Given the description of an element on the screen output the (x, y) to click on. 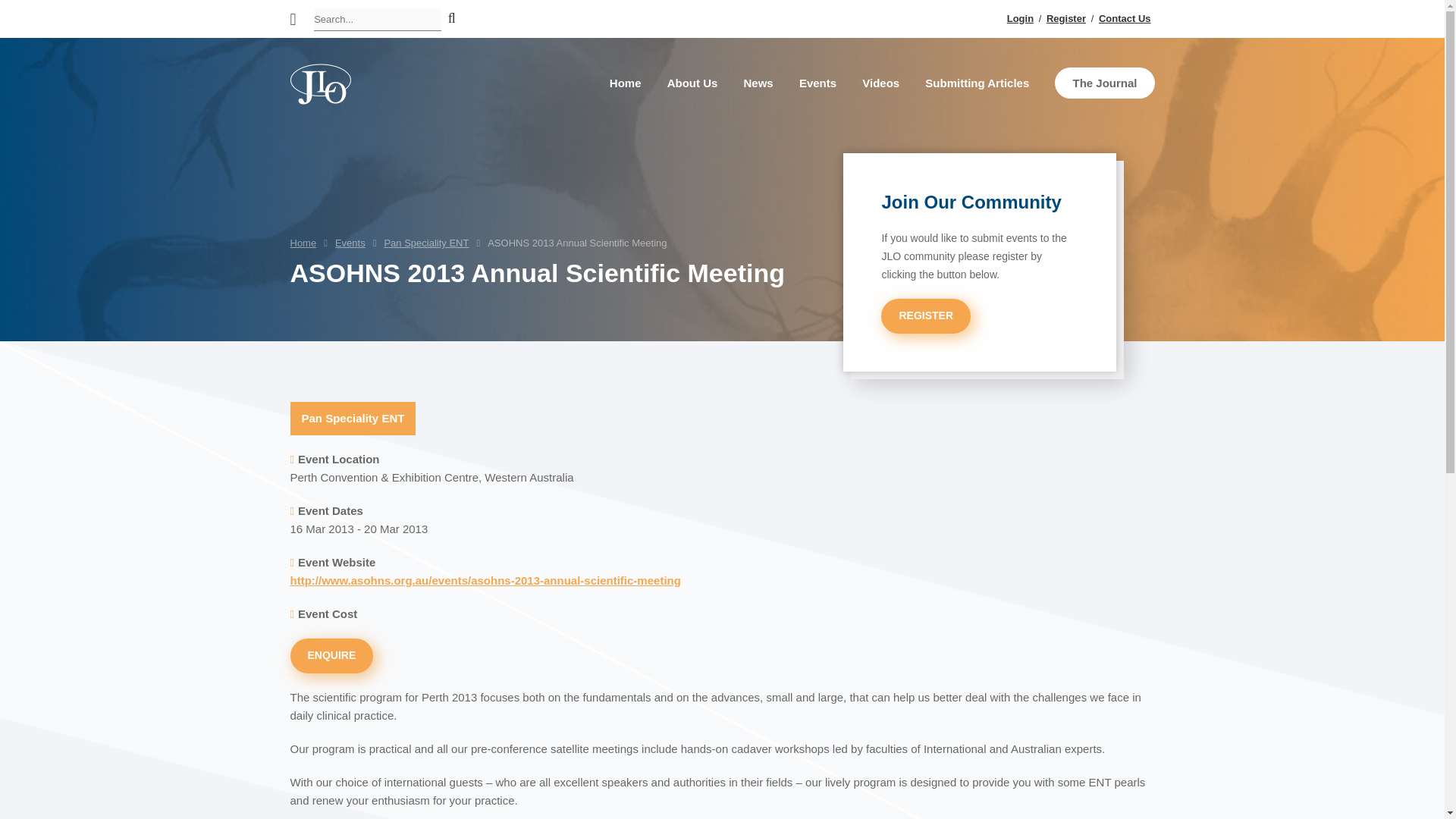
Submitting Articles (977, 82)
Contact Us (1125, 18)
Register (1066, 18)
Login (1020, 18)
